Given the description of an element on the screen output the (x, y) to click on. 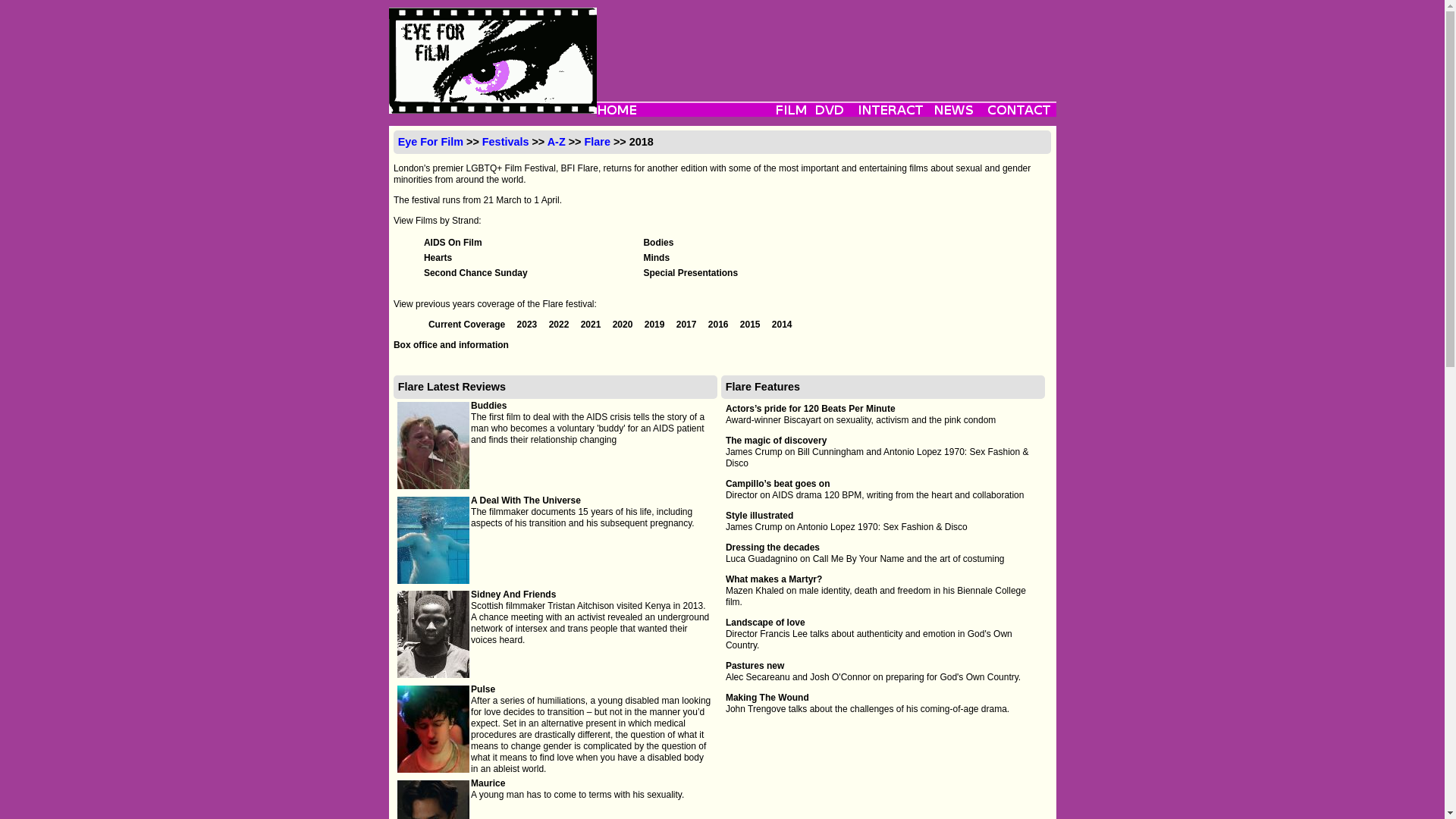
Second Chance Sunday (475, 272)
A-Z (556, 141)
2023 (528, 324)
2019 (655, 324)
Flare (597, 141)
2021 (592, 324)
2020 (623, 324)
Eye For Film (430, 141)
Advertisement (825, 41)
Special Presentations (690, 272)
Current Coverage (468, 324)
2022 (560, 324)
Minds (656, 257)
AIDS On Film (452, 242)
Bodies (657, 242)
